Given the description of an element on the screen output the (x, y) to click on. 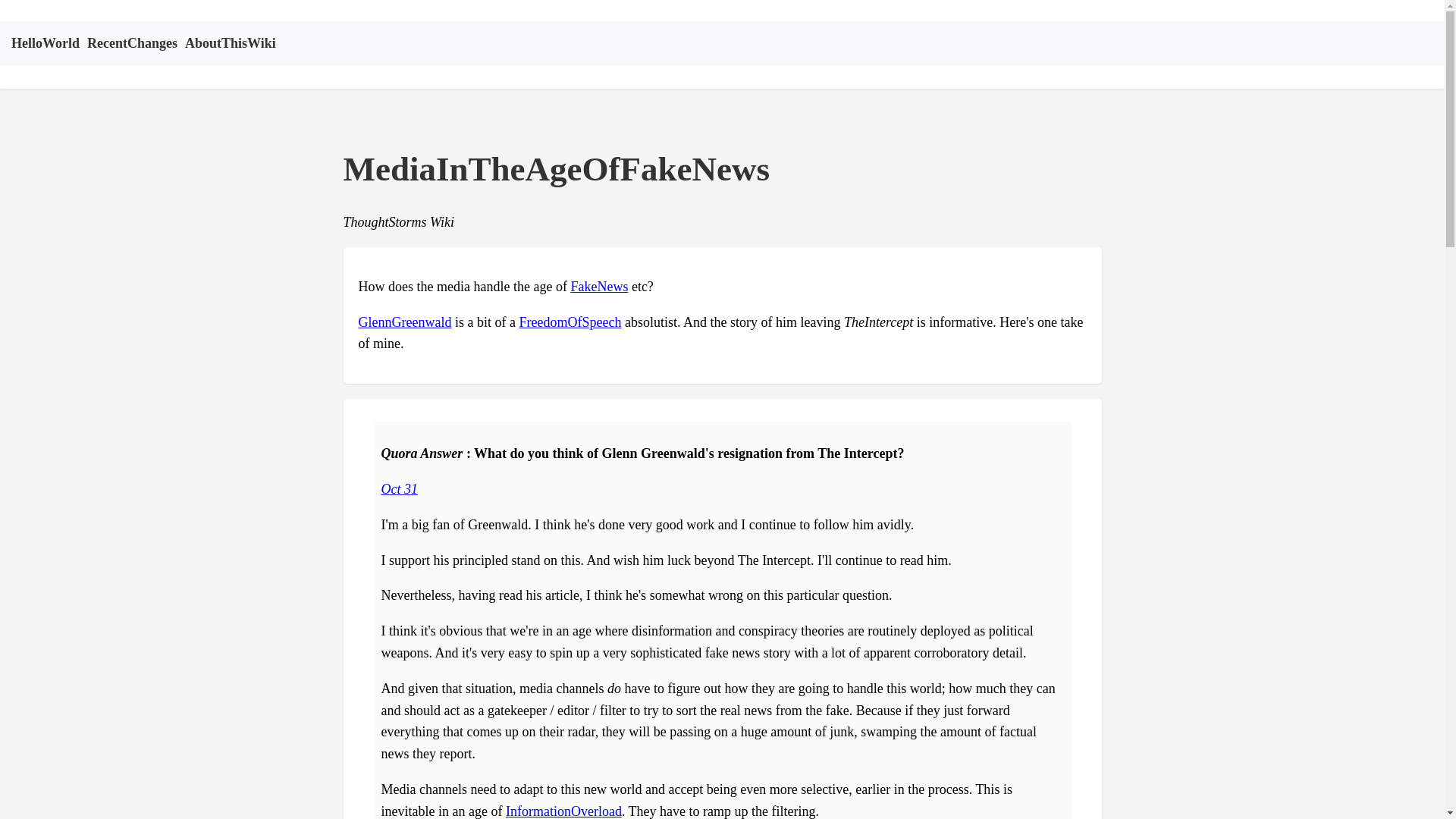
AboutThisWiki (230, 43)
Oct 31 (398, 488)
FakeNews (598, 286)
InformationOverload (563, 811)
GlennGreenwald (404, 322)
FreedomOfSpeech (569, 322)
RecentChanges (132, 43)
HelloWorld (45, 43)
